Given the description of an element on the screen output the (x, y) to click on. 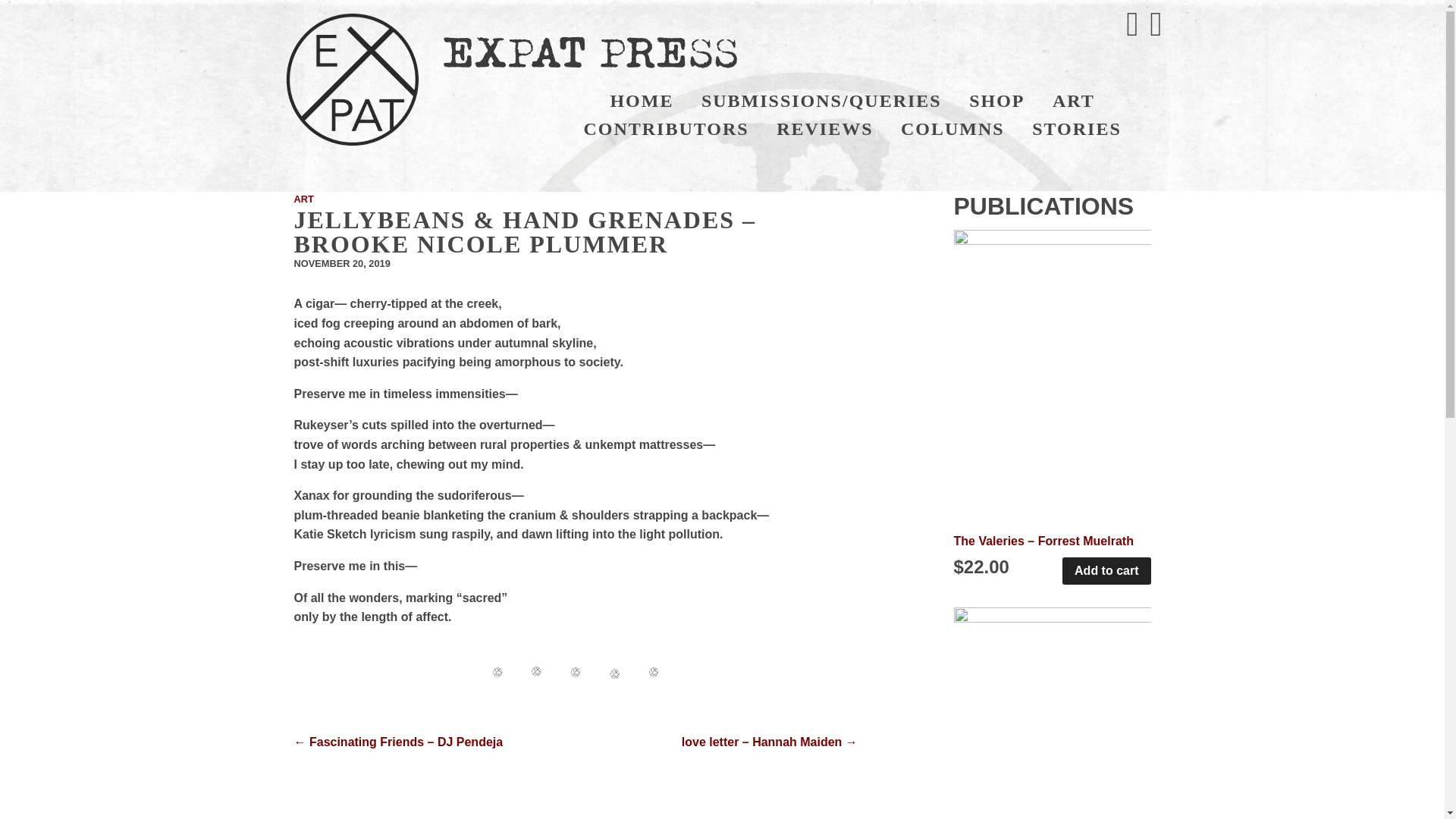
ART (304, 198)
COLUMNS (952, 129)
REVIEWS (824, 129)
HOME (640, 100)
Add to cart (1106, 570)
CONTRIBUTORS (665, 129)
ART (1073, 100)
STORIES (1077, 129)
SHOP (996, 100)
